Given the description of an element on the screen output the (x, y) to click on. 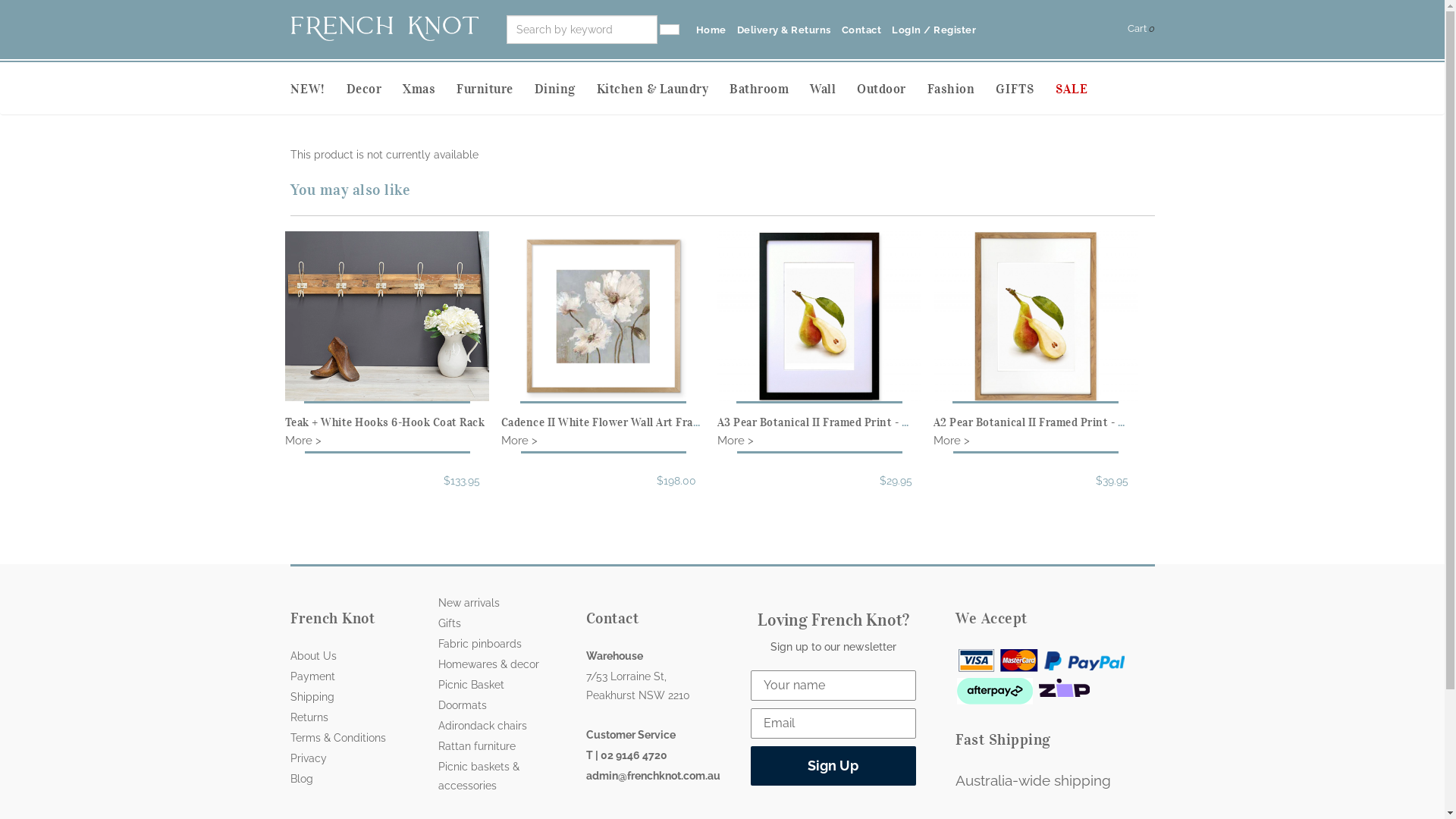
Outdoor Element type: text (891, 88)
Gifts Element type: text (449, 623)
Returns Element type: text (308, 717)
Cadence II White Flower Wall Art Framed Element type: text (607, 422)
Sign Up Element type: text (833, 765)
Decor Element type: text (373, 88)
New arrivals Element type: text (468, 602)
Terms & Conditions Element type: text (337, 737)
Wall Element type: text (832, 88)
Fabric pinboards Element type: text (479, 643)
Furniture Element type: text (495, 88)
Submit Element type: text (26, 9)
Picnic baskets & accessories Element type: text (478, 775)
Rattan furniture Element type: text (476, 746)
GIFTS Element type: text (1025, 88)
Homewares & decor Element type: text (488, 664)
Home Element type: text (711, 29)
Blog Element type: text (300, 778)
Fashion Element type: text (960, 88)
Warehouse Element type: text (613, 655)
Contact Element type: text (861, 29)
Delivery & Returns Element type: text (784, 29)
Teak + White Hooks 6-Hook Coat Rack Element type: text (385, 422)
admin@frenchknot.com.au Element type: text (652, 775)
SALE Element type: text (1082, 88)
Shipping Element type: text (311, 696)
About Us Element type: text (312, 655)
Kitchen & Laundry Element type: text (662, 88)
Adirondack chairs Element type: text (482, 725)
NEW! Element type: text (317, 88)
Bathroom Element type: text (769, 88)
Cart 0 Element type: text (1140, 28)
Privacy Element type: text (307, 758)
Dining Element type: text (564, 88)
Payment Element type: text (311, 676)
LogIn / Register Element type: text (933, 29)
Xmas Element type: text (429, 88)
Doormats Element type: text (462, 705)
Picnic Basket Element type: text (471, 684)
